Given the description of an element on the screen output the (x, y) to click on. 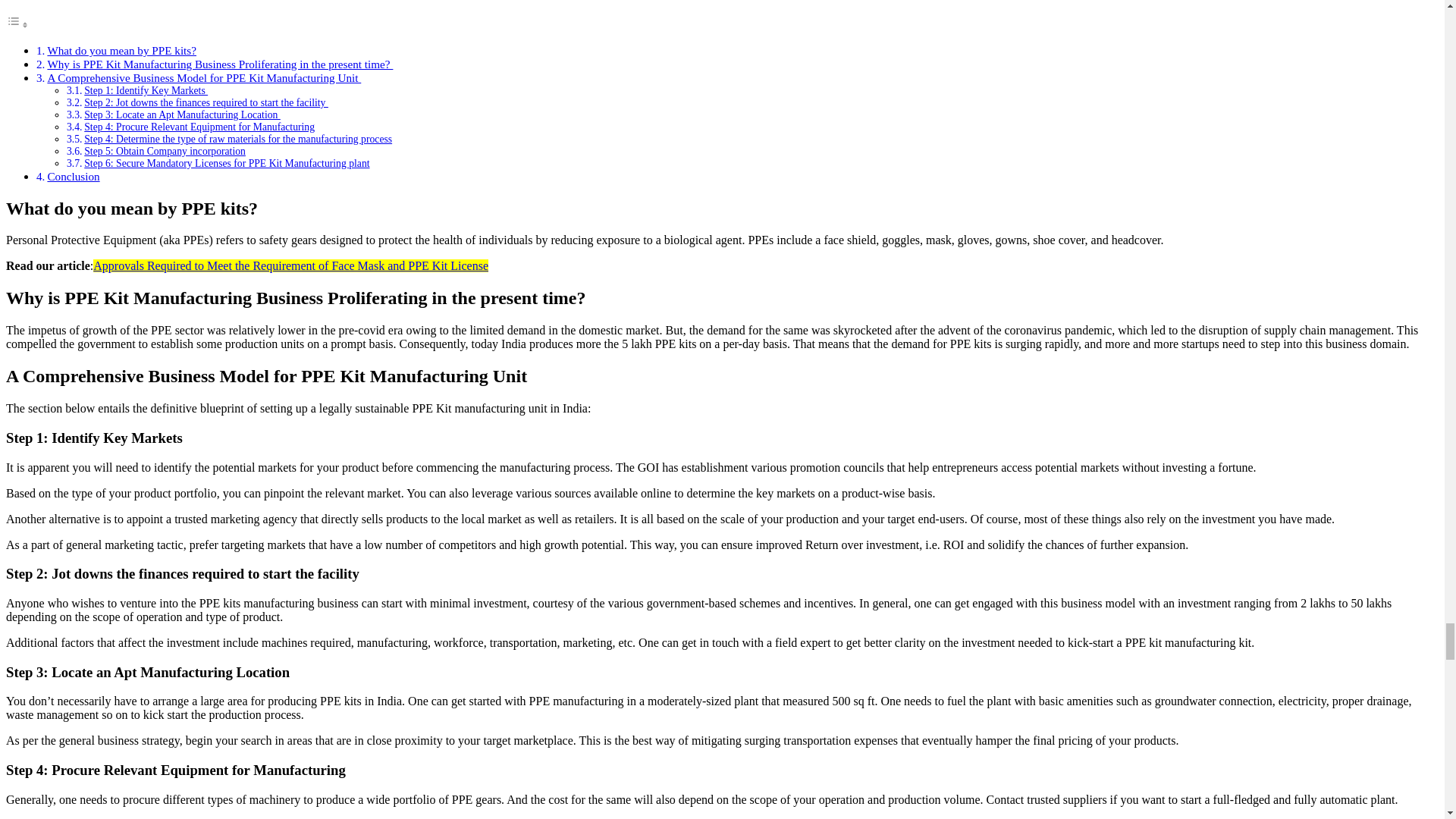
Conclusion (72, 175)
Step 5: Obtain Company incorporation (165, 151)
What do you mean by PPE kits? (121, 50)
